Given the description of an element on the screen output the (x, y) to click on. 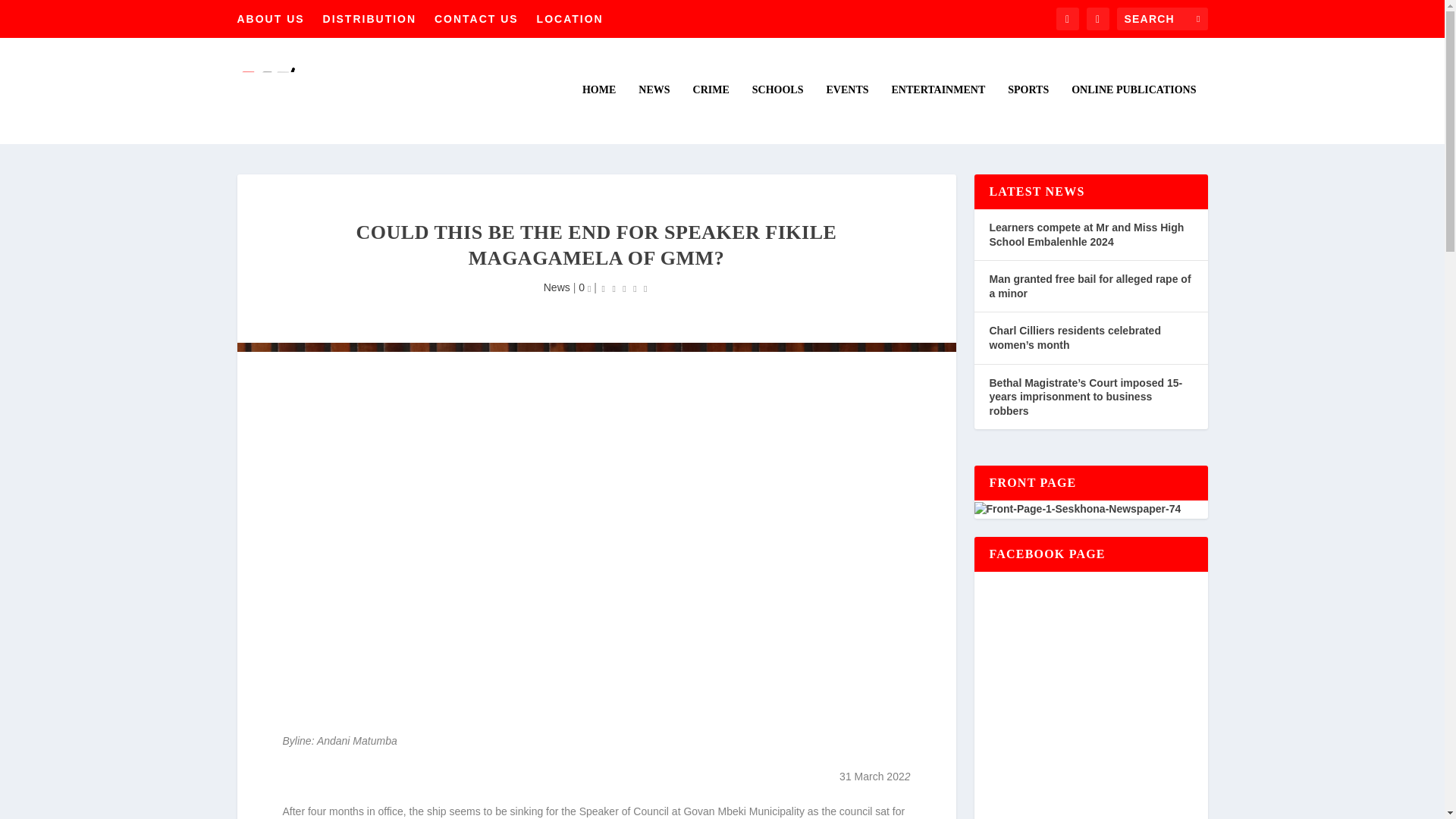
DISTRIBUTION (369, 18)
News (556, 287)
Learners compete at Mr and Miss High School Embalenhle 2024 (1085, 234)
0 (584, 287)
LOCATION (570, 18)
CONTACT US (475, 18)
Rating: 0.00 (624, 288)
ENTERTAINMENT (938, 114)
Man granted free bail for alleged rape of a minor (1089, 285)
Search for: (1161, 18)
